Given the description of an element on the screen output the (x, y) to click on. 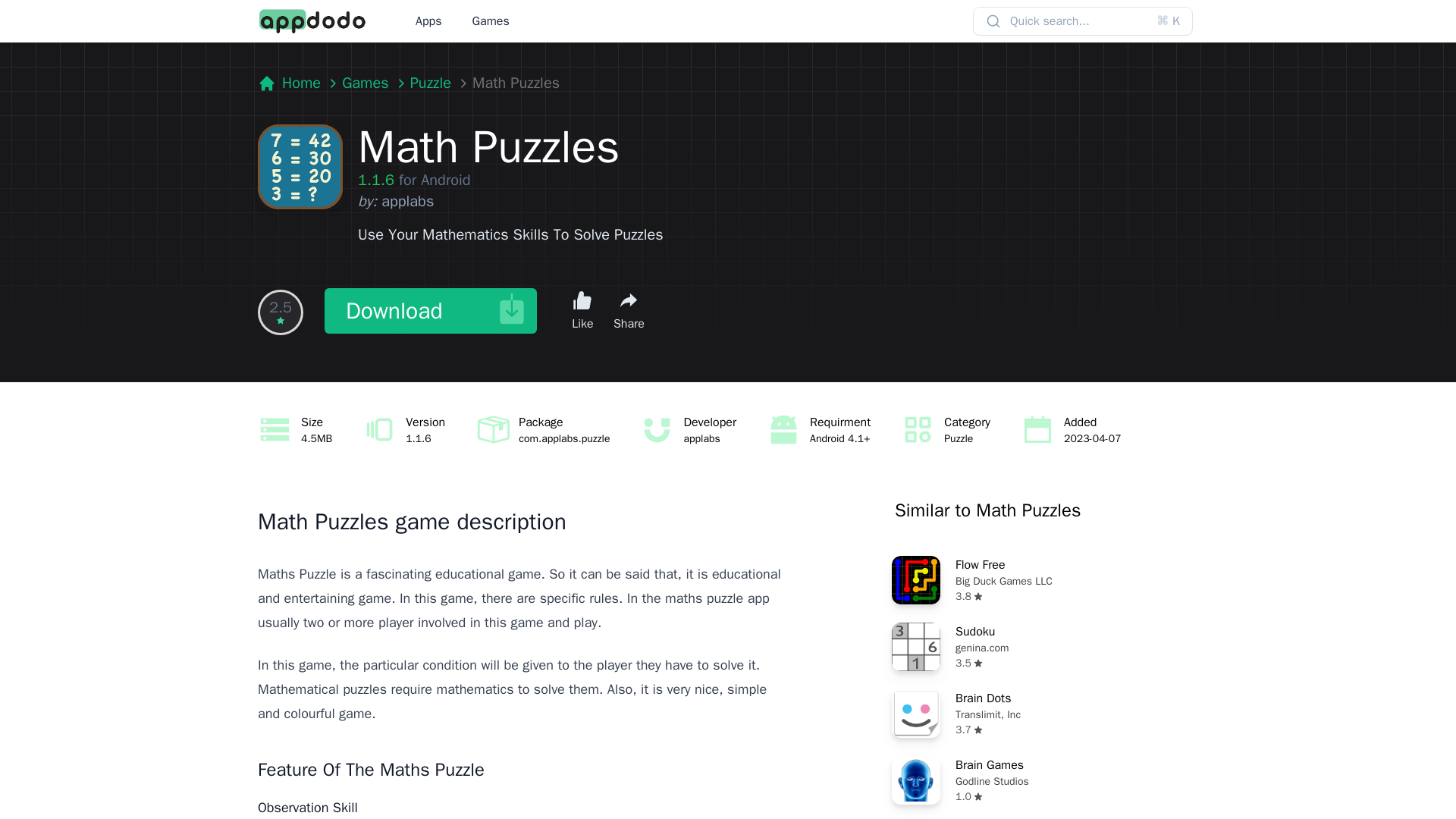
Home (1045, 780)
Games (288, 83)
Apps (1045, 713)
Games (365, 83)
Puzzle (1045, 580)
Download (428, 20)
